Given the description of an element on the screen output the (x, y) to click on. 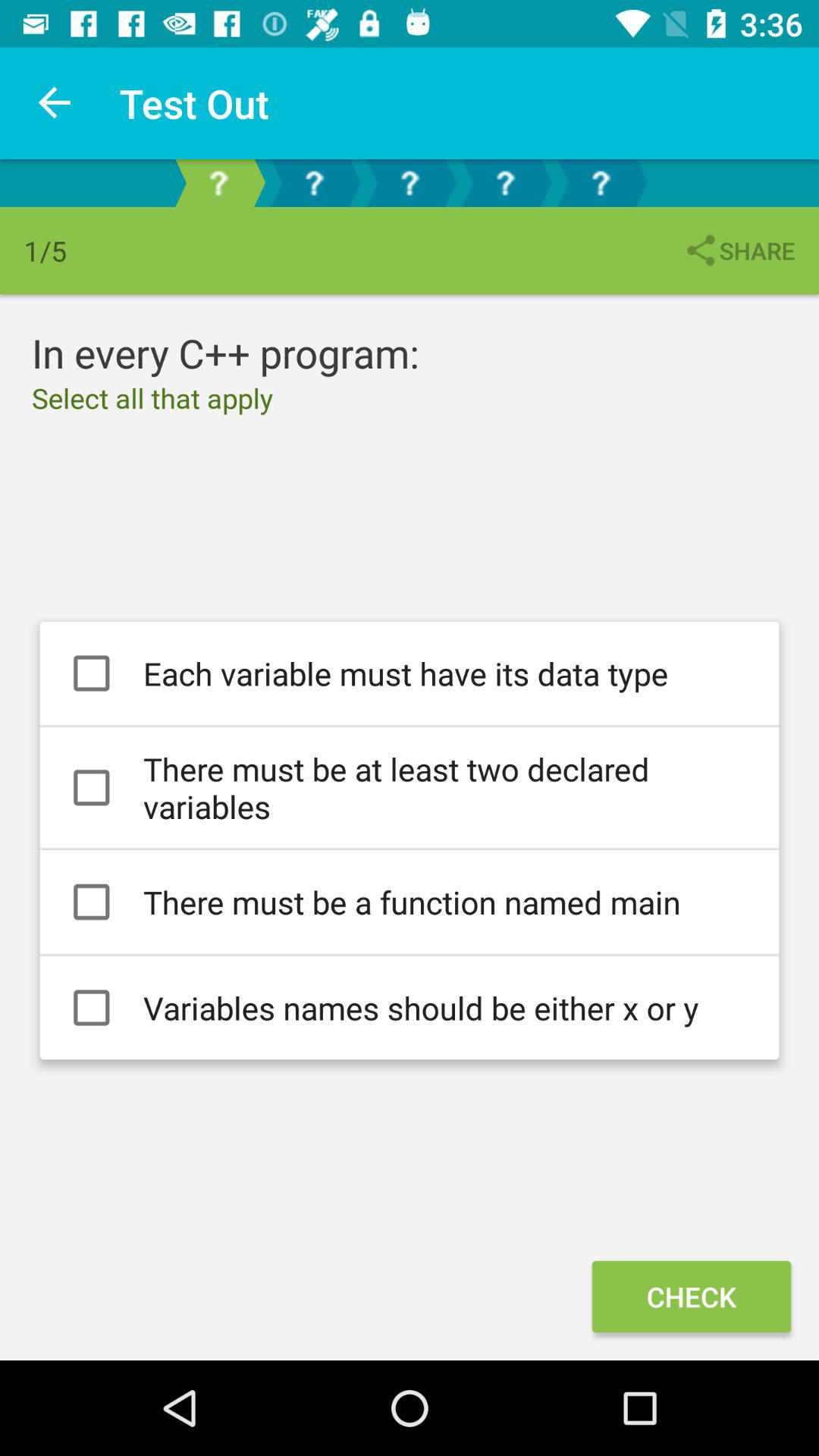
click to move to the next question (313, 183)
